Given the description of an element on the screen output the (x, y) to click on. 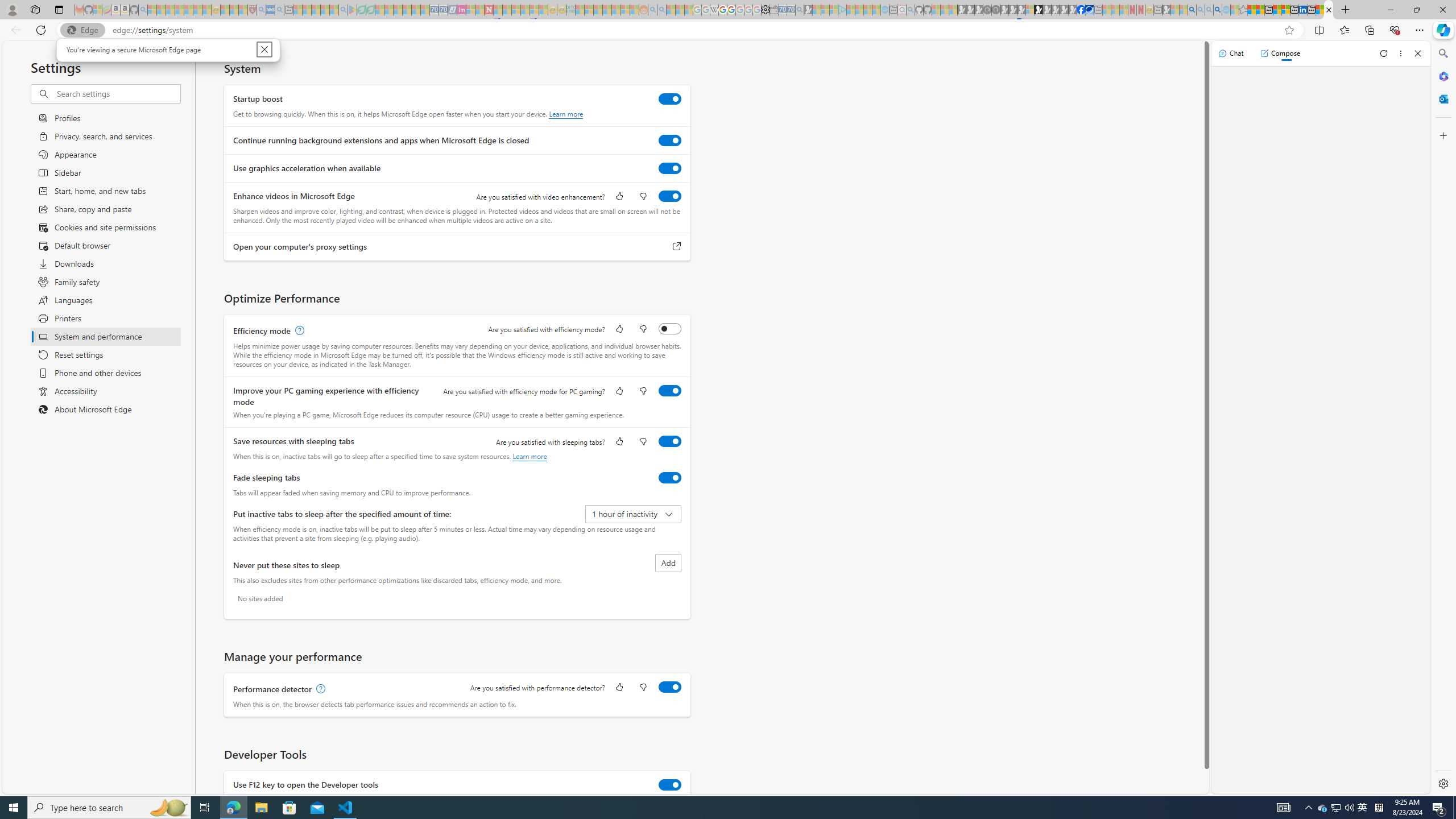
Nordace | Facebook (1080, 9)
